Given the description of an element on the screen output the (x, y) to click on. 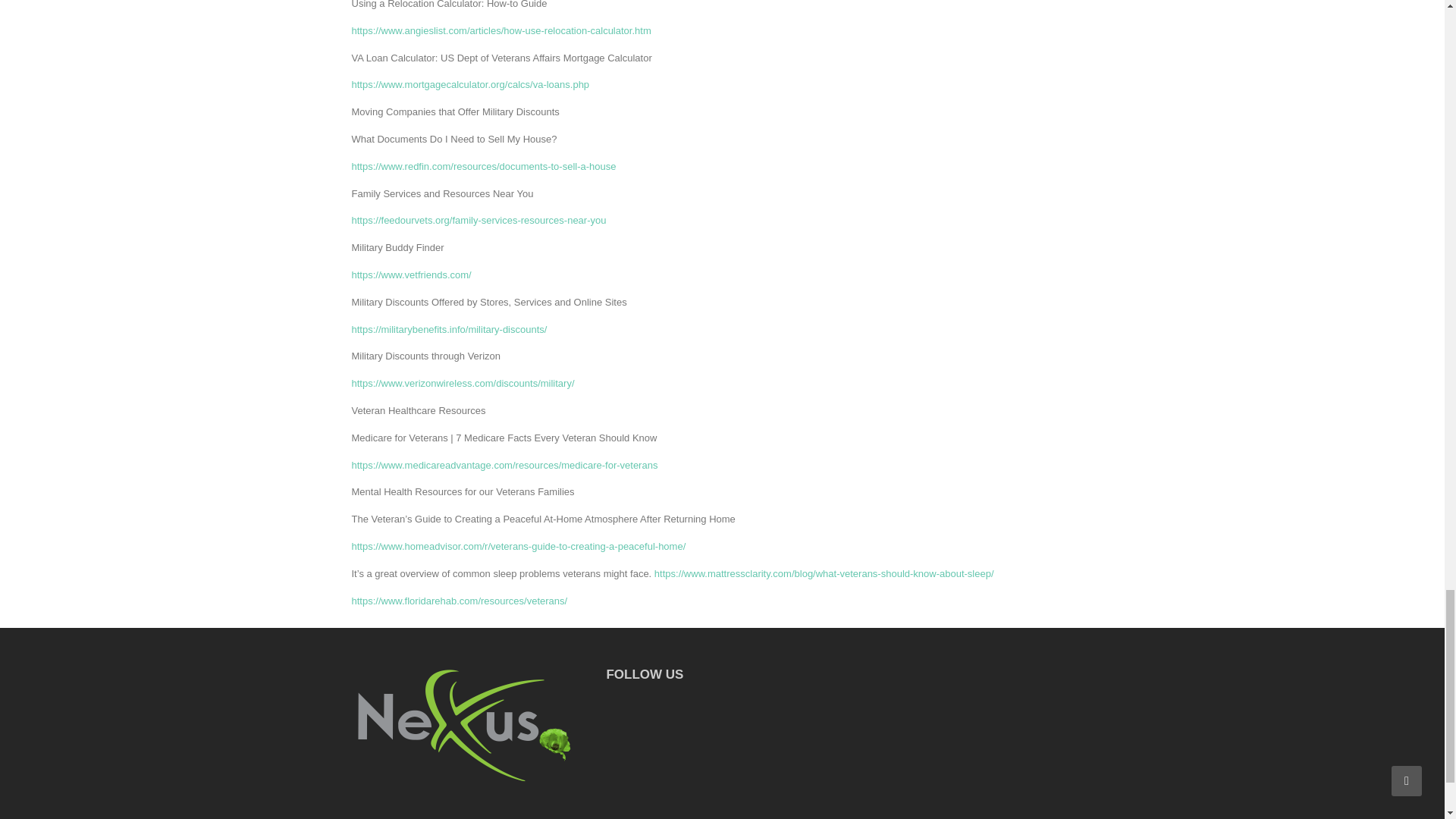
LinkedIn (699, 707)
Facebook (645, 707)
Twitter (672, 707)
Instagram (617, 707)
